Given the description of an element on the screen output the (x, y) to click on. 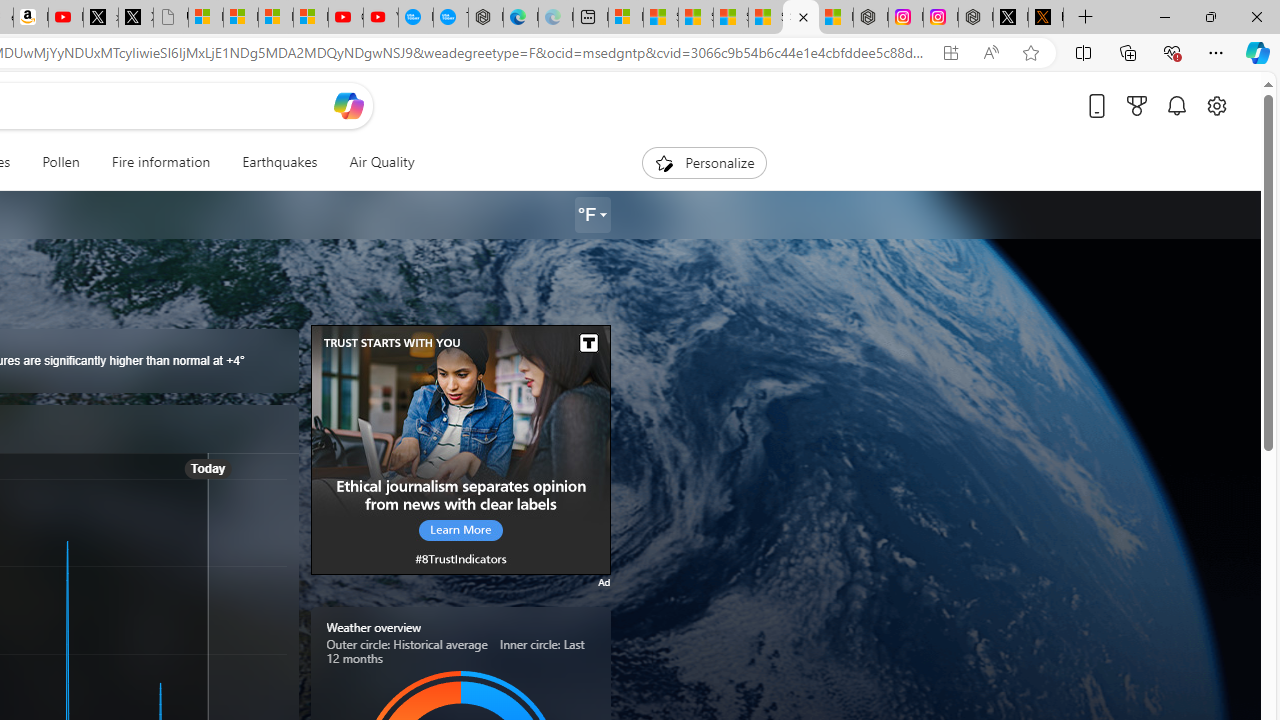
Untitled (170, 17)
Pollen (60, 162)
Open settings (1216, 105)
Earthquakes (280, 162)
Air Quality (381, 162)
